Given the description of an element on the screen output the (x, y) to click on. 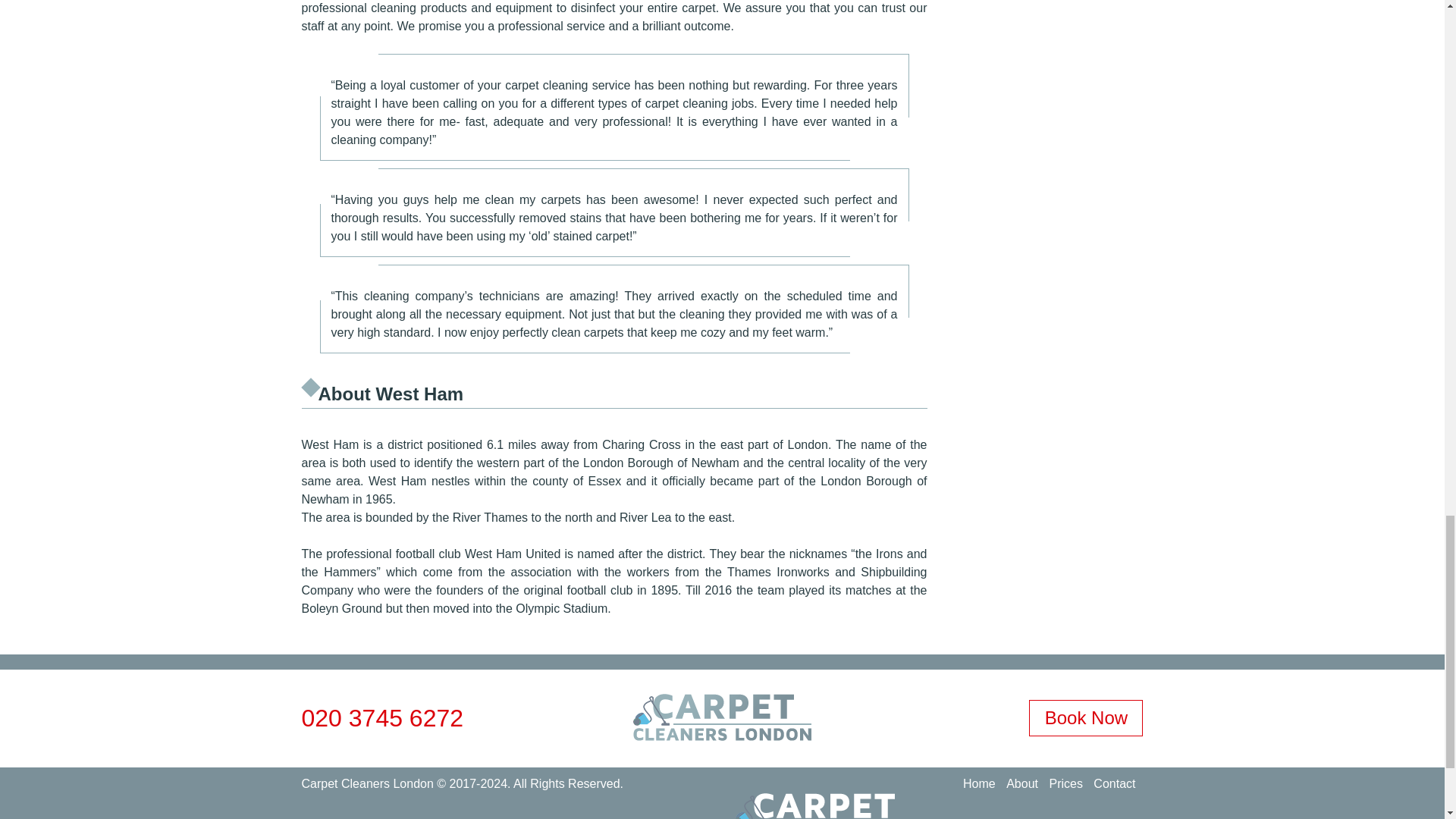
Prices (1064, 783)
020 3745 6272 (382, 718)
Contact (1114, 783)
Book Now (1085, 718)
Home (978, 783)
About (1022, 783)
Carpet Cleaners London (367, 783)
